Given the description of an element on the screen output the (x, y) to click on. 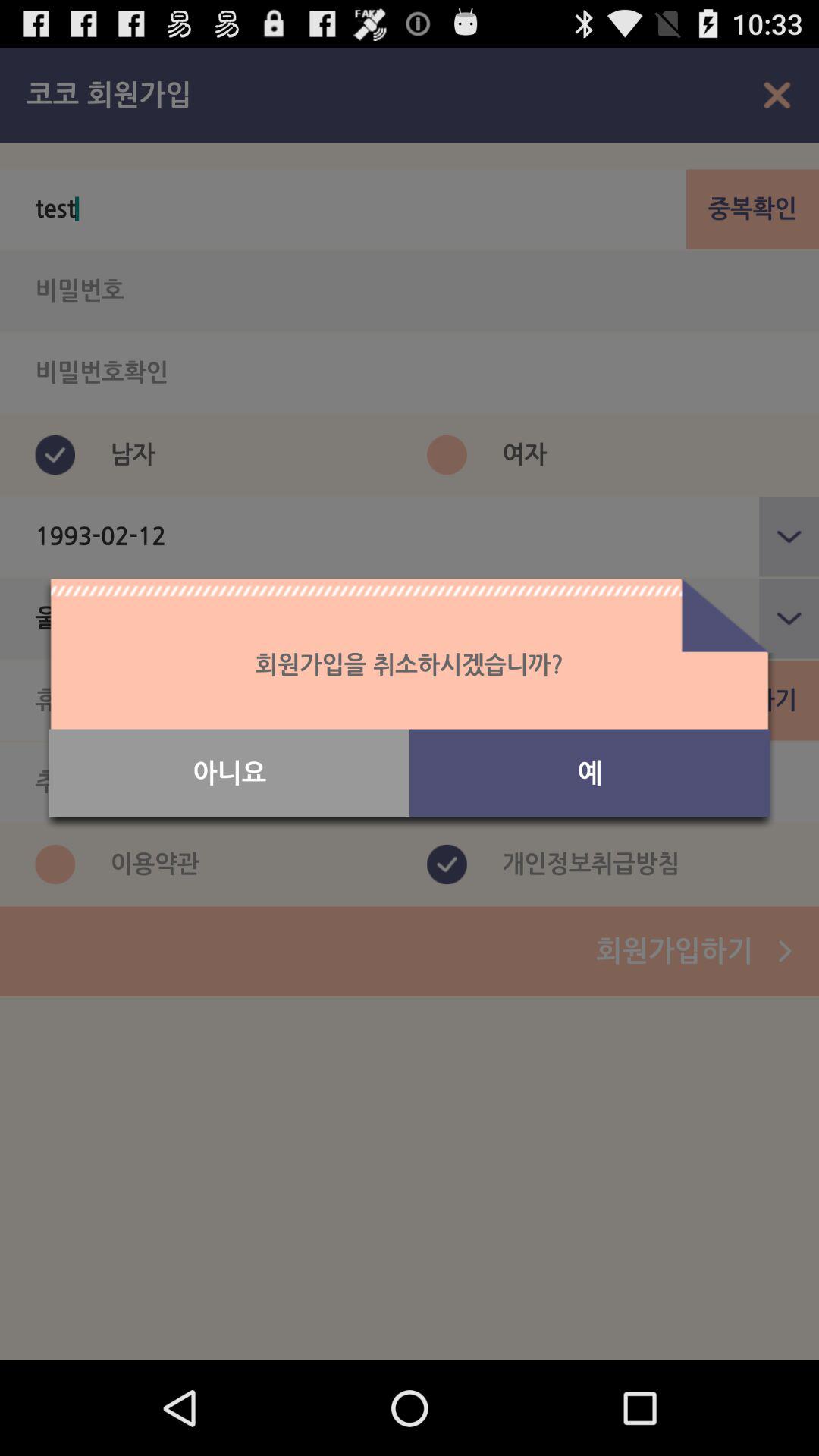
open the item on the right (589, 772)
